Given the description of an element on the screen output the (x, y) to click on. 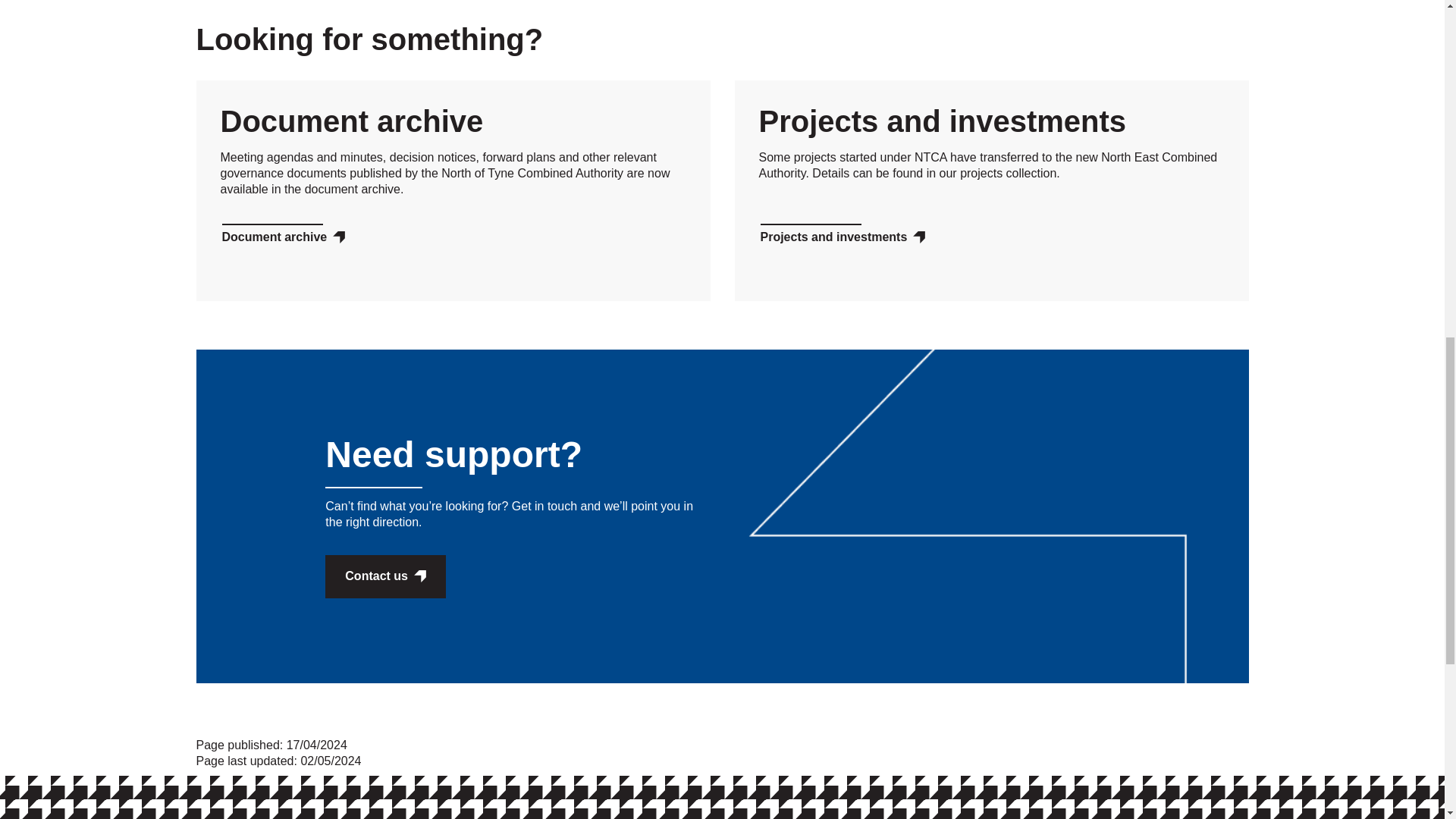
Document archive (282, 237)
Projects and investments (842, 237)
Contact us (384, 576)
